Given the description of an element on the screen output the (x, y) to click on. 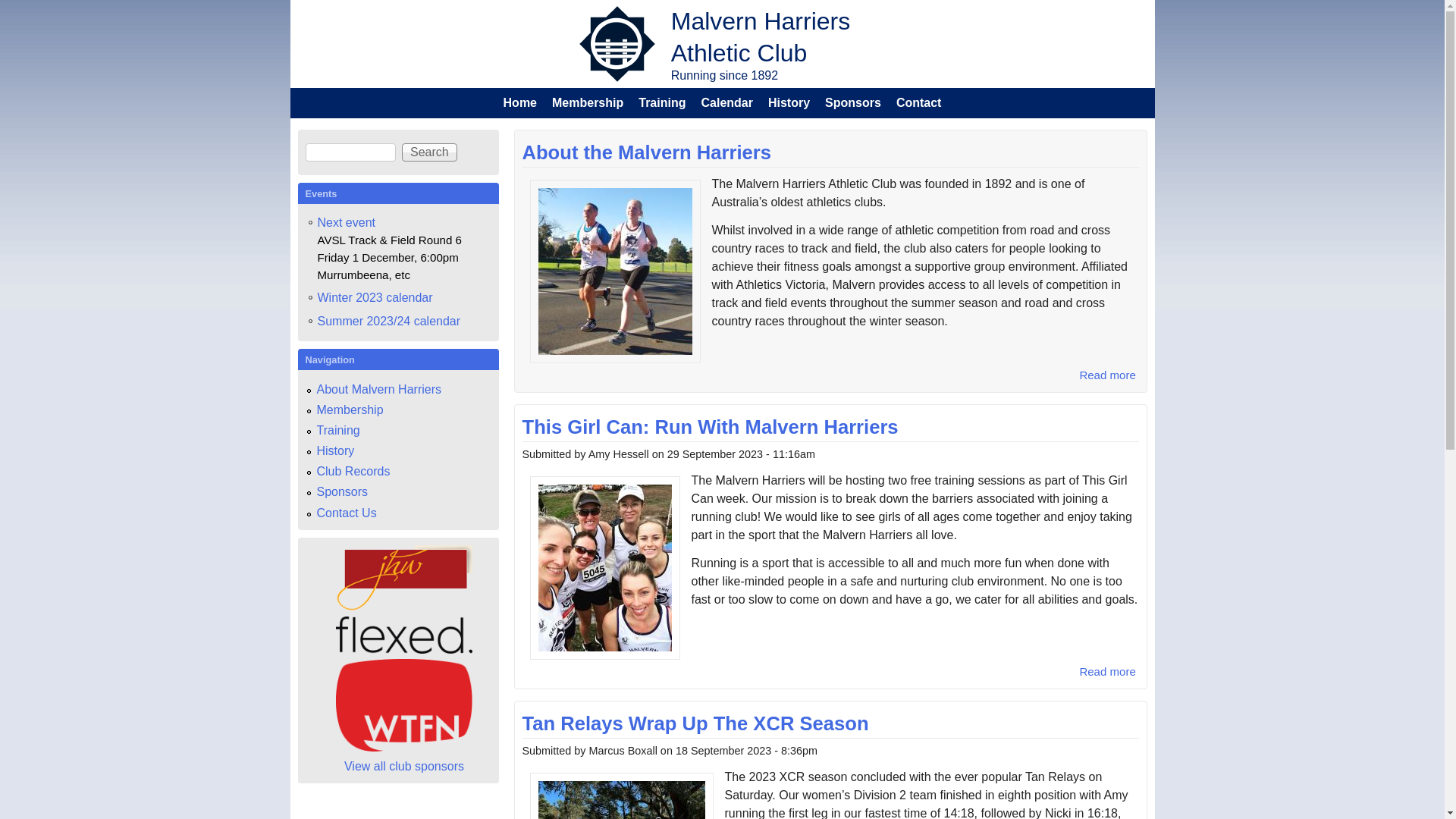
Read more
about This Girl Can: Run With Malvern Harriers Element type: text (1107, 671)
History Element type: text (335, 450)
Read more
about About the Malvern Harriers Element type: text (1107, 374)
WTFN Entertainment Element type: hover (403, 746)
About the Malvern Harriers Element type: text (646, 152)
JHW Element type: hover (403, 578)
Training Element type: text (661, 102)
History Element type: text (788, 102)
Training Element type: text (338, 429)
Tan Relays Wrap Up The XCR Season Element type: text (694, 723)
Home Element type: text (519, 102)
flexed Physiotherapy Element type: hover (403, 649)
JHW Element type: hover (403, 606)
Summer 2023/24 calendar Element type: text (388, 321)
flexed Physiotherapy Element type: hover (403, 634)
Skip to main content Element type: text (704, 0)
Calendar Element type: text (726, 102)
WTFN Entertainment Element type: hover (403, 704)
Winter 2023 calendar Element type: text (374, 297)
This Girl Can: Run With Malvern Harriers Element type: text (709, 426)
Contact Element type: text (918, 102)
Search Element type: text (429, 152)
Sponsors Element type: text (342, 491)
View all club sponsors Element type: text (404, 765)
Sponsors Element type: text (852, 102)
Club Records Element type: text (353, 470)
Membership Element type: text (349, 409)
Malvern Harriers Athletic Club Element type: text (760, 36)
About Malvern Harriers Element type: text (379, 388)
Contact Us Element type: text (346, 512)
Membership Element type: text (587, 102)
Enter the terms you wish to search for. Element type: hover (349, 152)
